Given the description of an element on the screen output the (x, y) to click on. 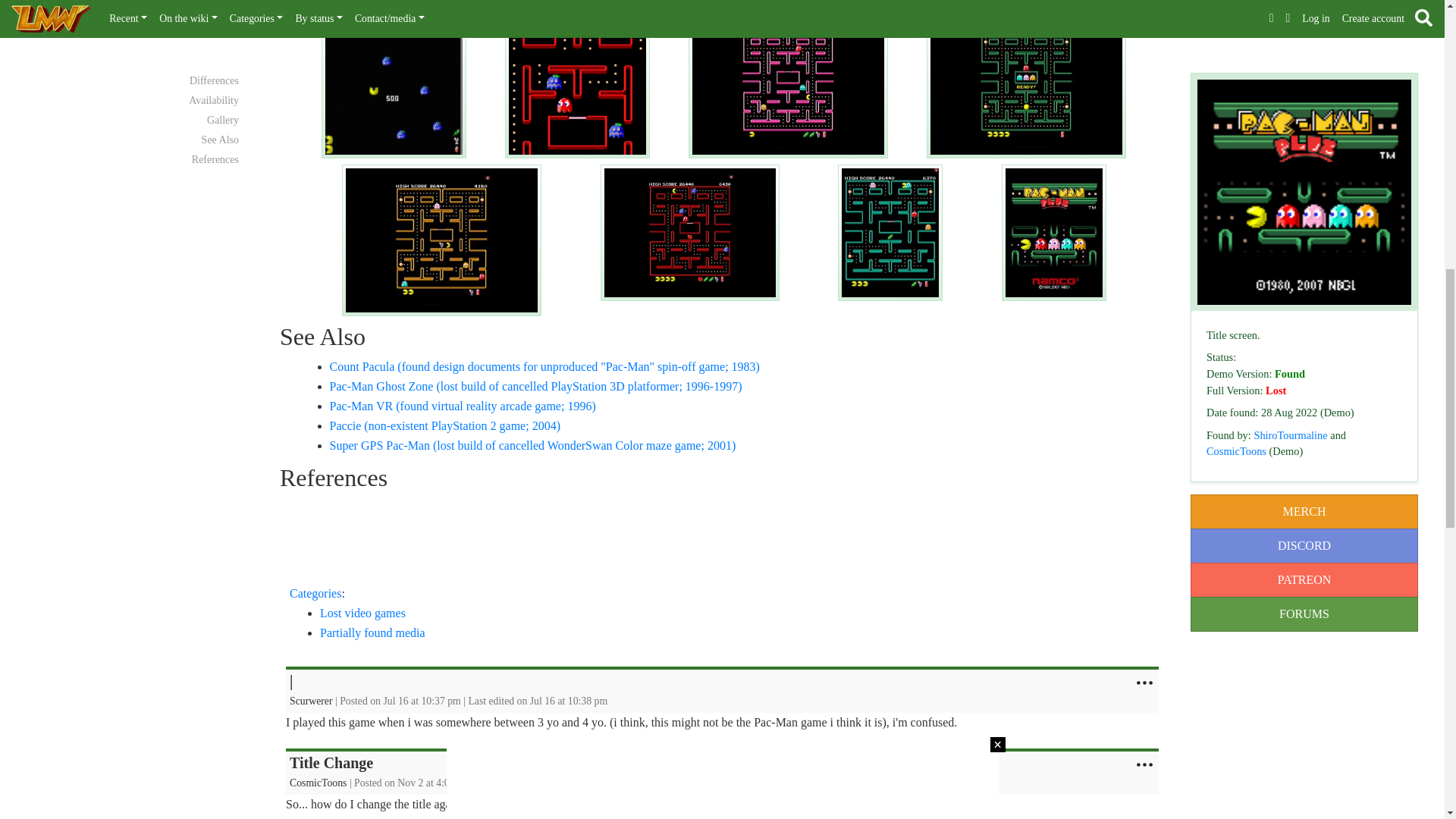
3rd party ad content (716, 533)
Special:Categories (314, 593)
Category:Partially found media (372, 632)
Category:Lost video games (363, 612)
